Given the description of an element on the screen output the (x, y) to click on. 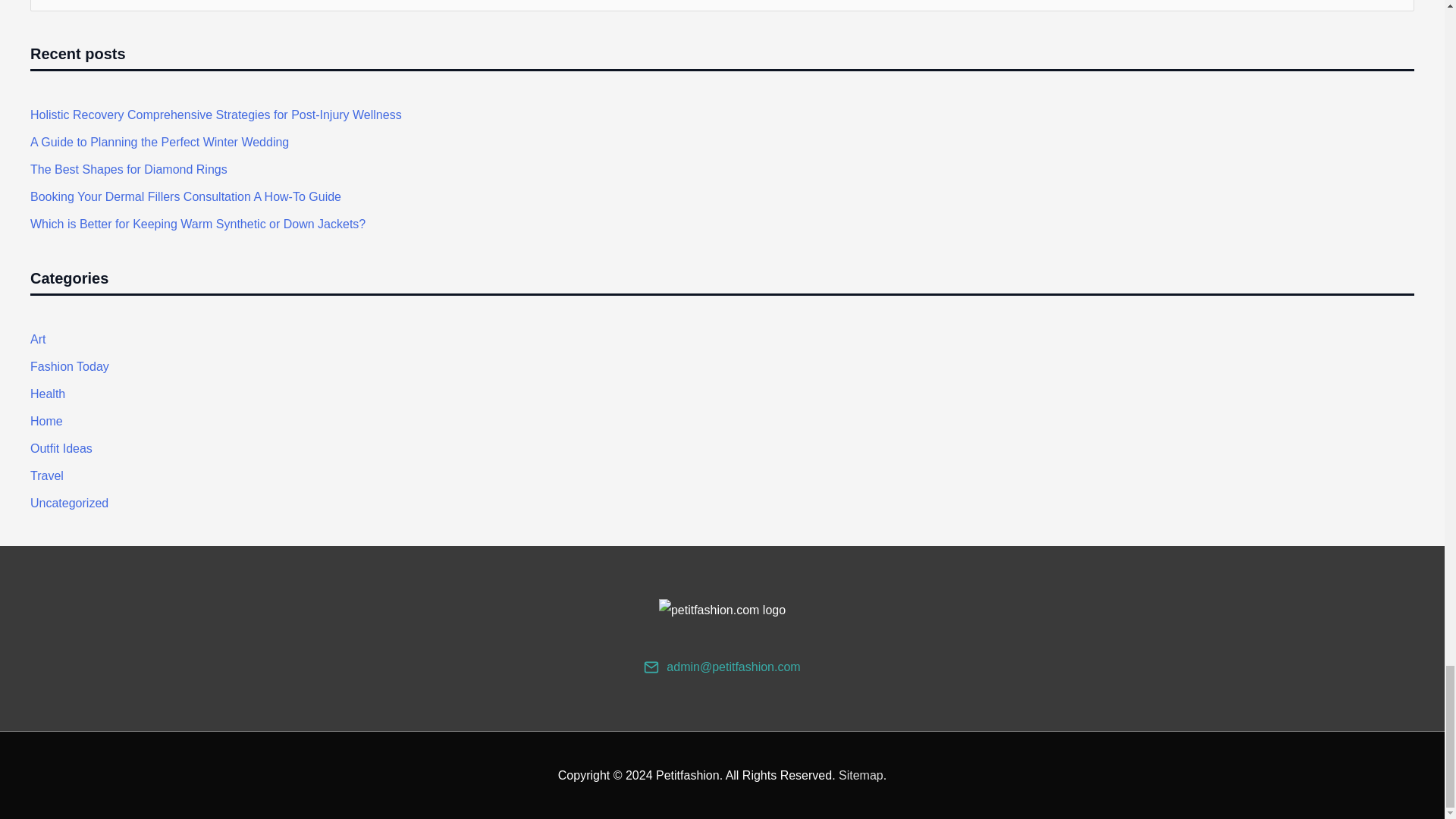
Uncategorized (68, 502)
Search (1396, 10)
Travel (47, 475)
A Guide to Planning the Perfect Winter Wedding (159, 141)
Art (37, 338)
Which is Better for Keeping Warm Synthetic or Down Jackets? (197, 223)
Search (1396, 10)
Search (1396, 10)
The Best Shapes for Diamond Rings (128, 169)
Fashion Today (69, 366)
Outfit Ideas (61, 448)
Home (46, 420)
Booking Your Dermal Fillers Consultation A How-To Guide (185, 196)
Health (47, 393)
